Given the description of an element on the screen output the (x, y) to click on. 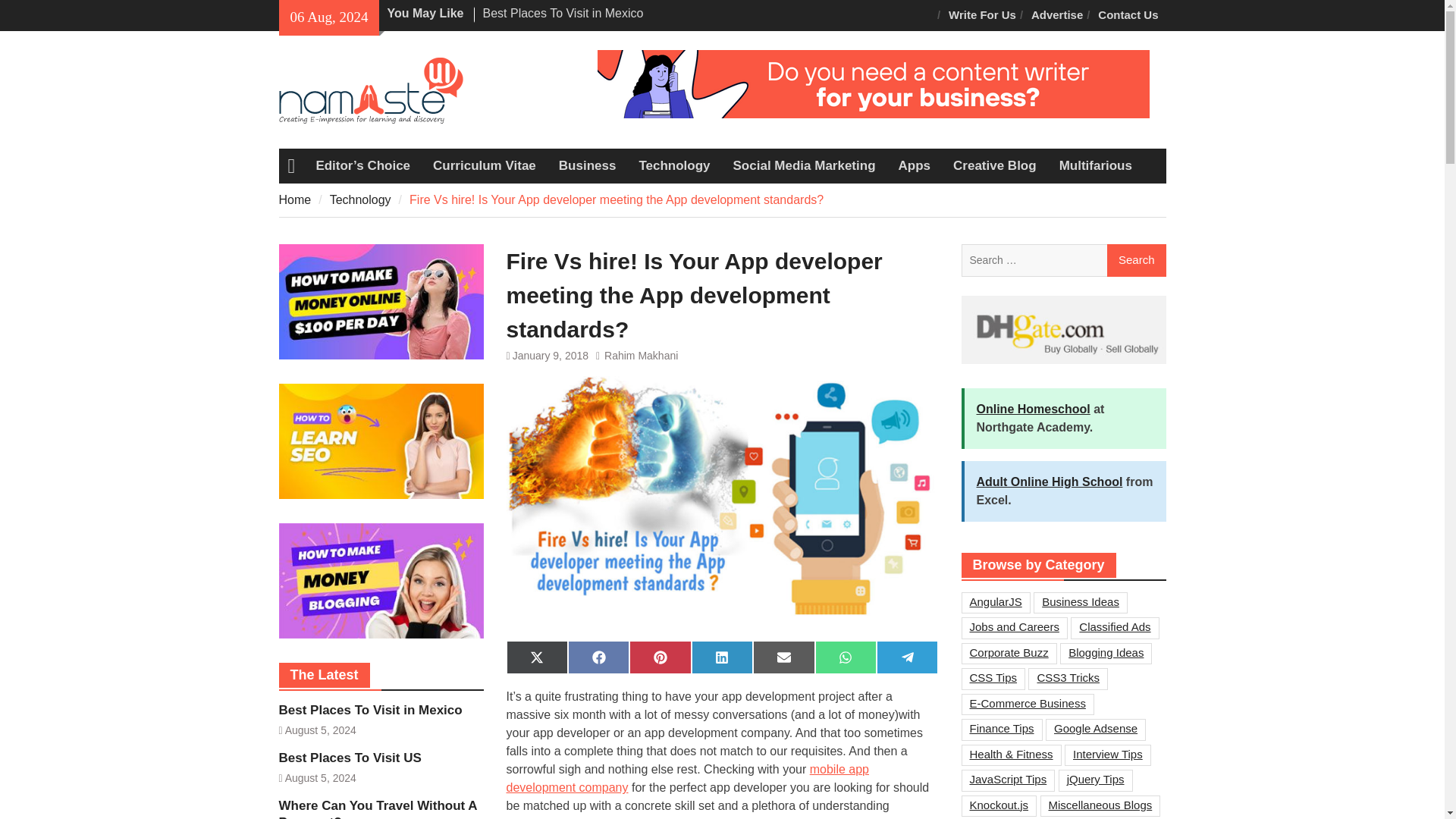
Creative Blog (995, 165)
January 9, 2018 (550, 354)
Multifarious (1095, 165)
Technology (673, 165)
Technology (673, 165)
Share on Email (782, 657)
Best Places To Visit in Mexico (562, 12)
Online Homeschool (1033, 408)
Contact Us (1128, 15)
Social Media Marketing (804, 165)
